Given the description of an element on the screen output the (x, y) to click on. 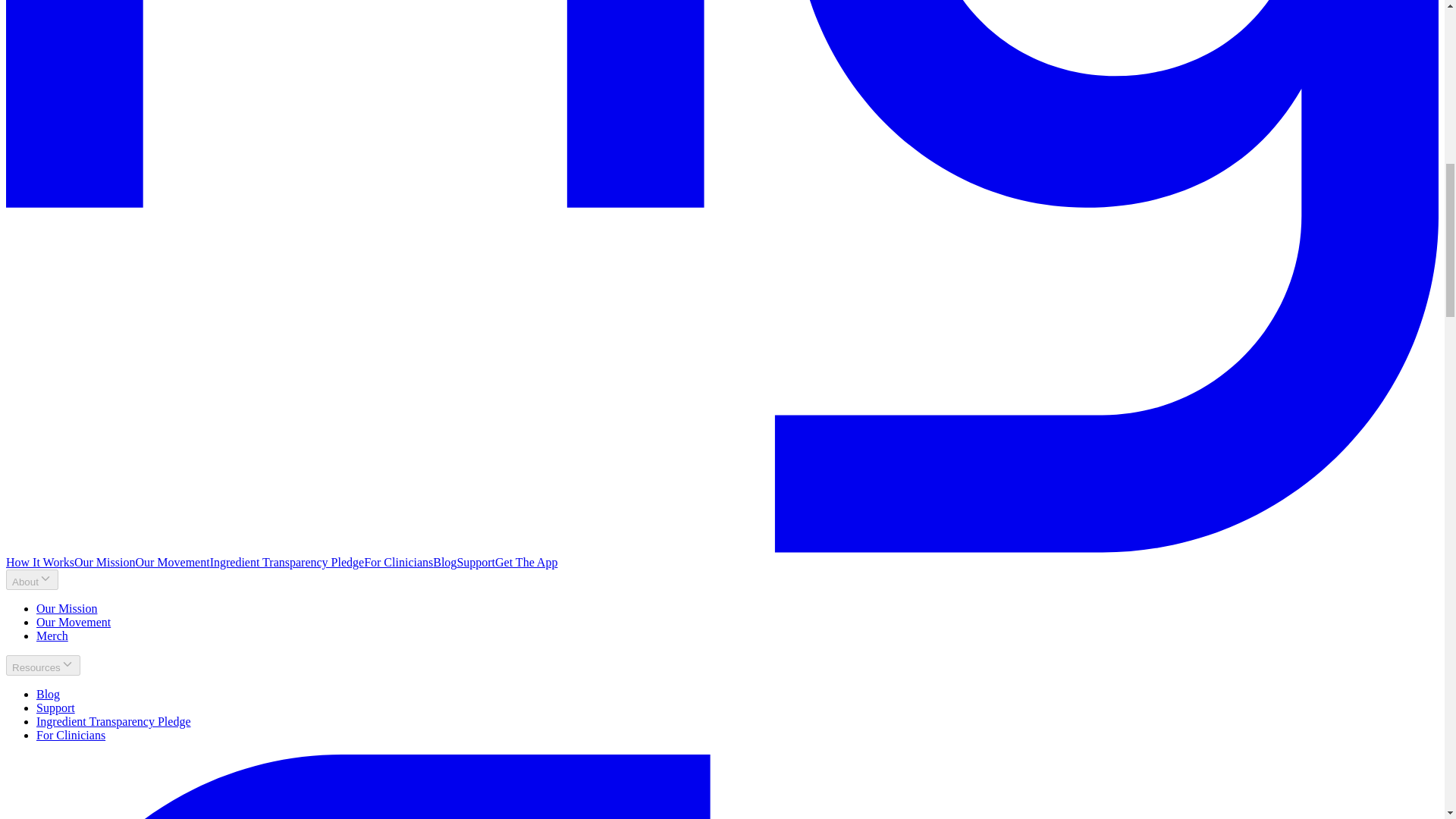
Resources (42, 665)
Resources (42, 665)
Our Mission (104, 562)
How It Works (39, 562)
Merch (52, 635)
Blog (47, 694)
About (31, 579)
Ingredient Transparency Pledge (287, 562)
For Clinicians (398, 562)
Support (55, 707)
Our Movement (73, 621)
Get The App (526, 562)
Our Mission (66, 608)
Blog (444, 562)
For Clinicians (70, 735)
